Given the description of an element on the screen output the (x, y) to click on. 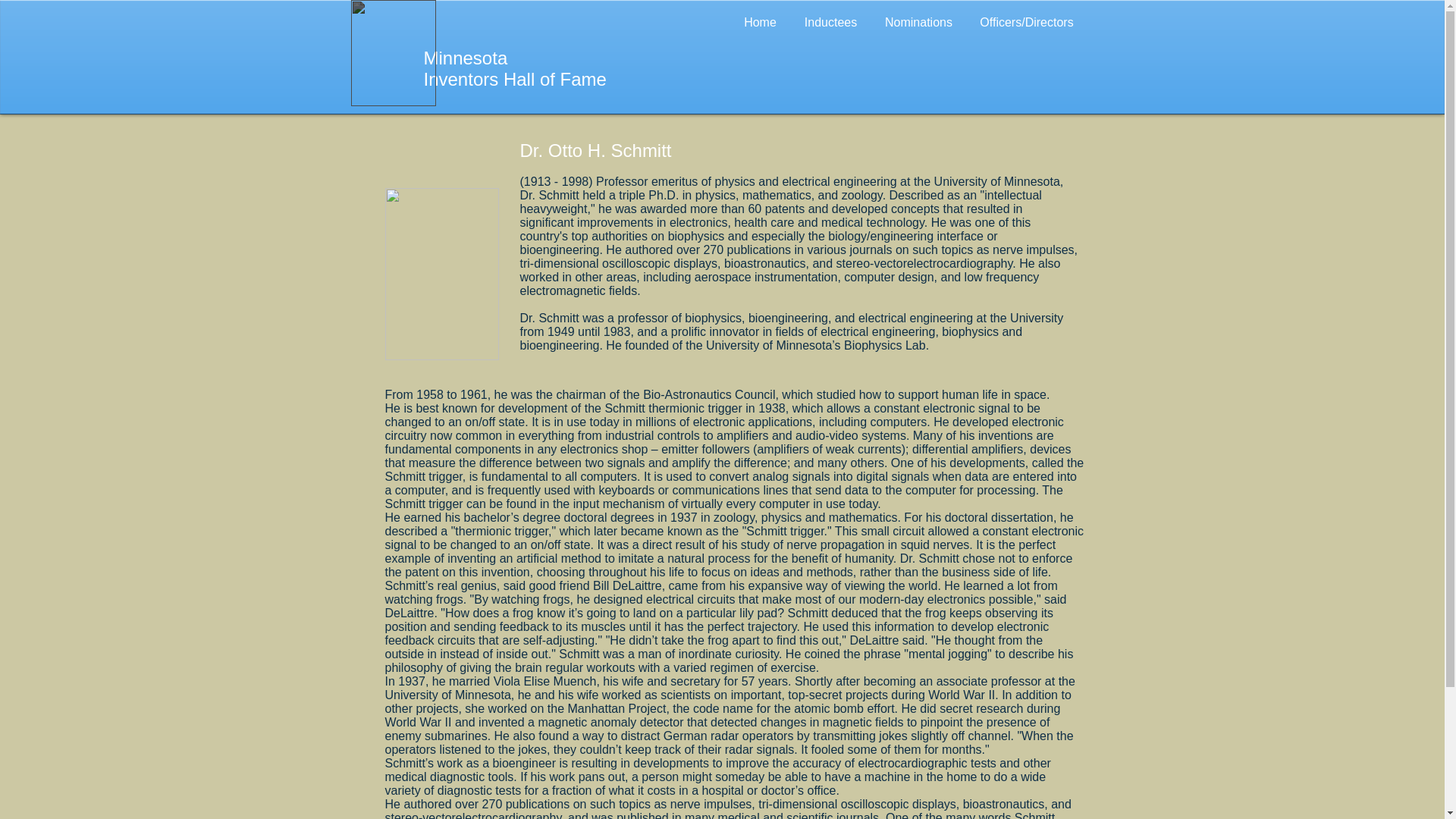
Nominations (918, 22)
Home (759, 22)
Inductees (830, 22)
